Given the description of an element on the screen output the (x, y) to click on. 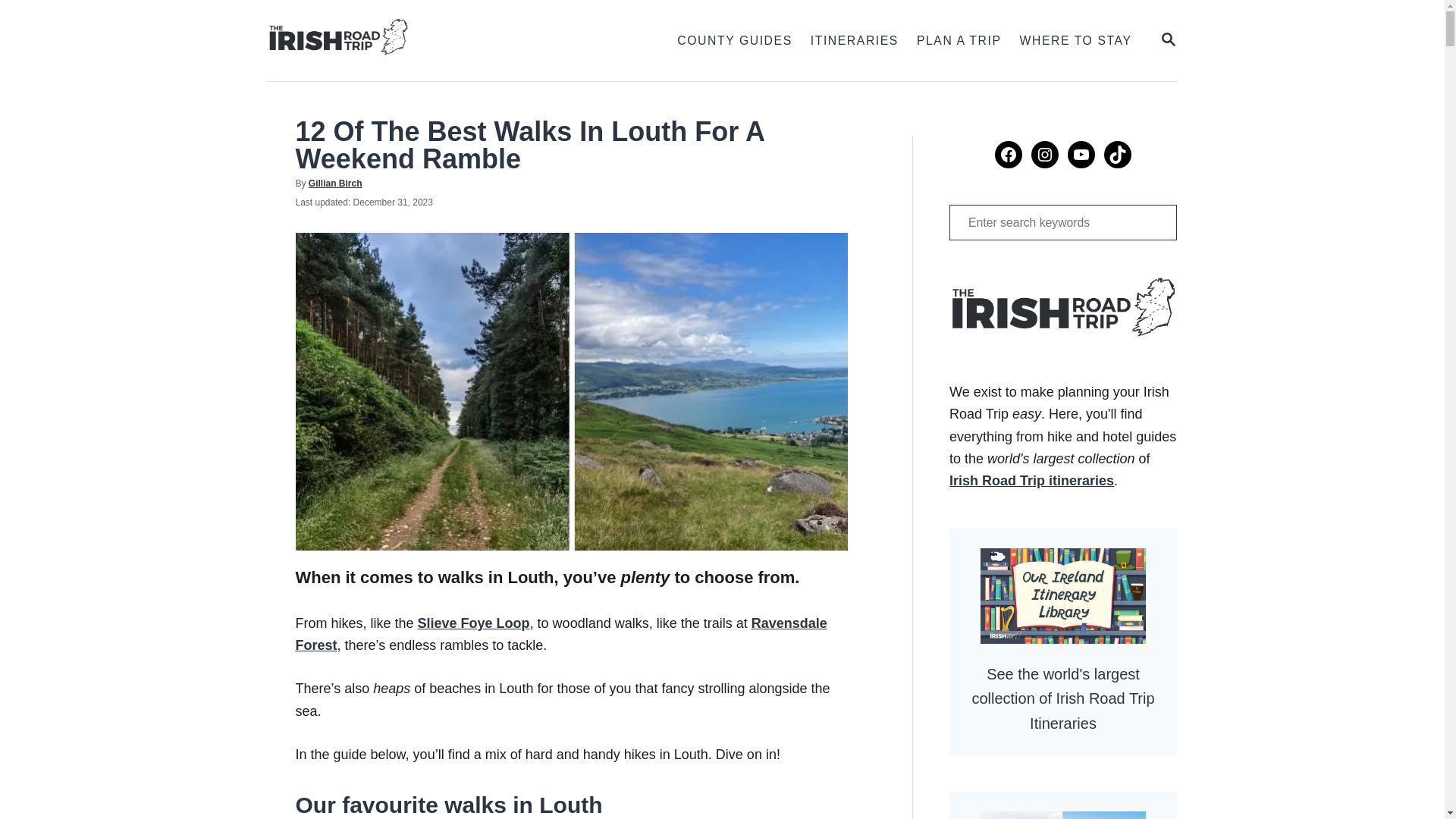
WHERE TO STAY (1075, 40)
Slieve Foye Loop (473, 622)
Instagram (1044, 154)
Gillian Birch (335, 183)
COUNTY GUIDES (734, 40)
Ravensdale Forest (561, 633)
Search for: (1062, 222)
The Irish Road Trip (423, 40)
PLAN A TRIP (958, 40)
TikTok (1117, 154)
YouTube (1080, 154)
Facebook (1167, 40)
MAGNIFYING GLASS (1008, 154)
ITINERARIES (1167, 39)
